Given the description of an element on the screen output the (x, y) to click on. 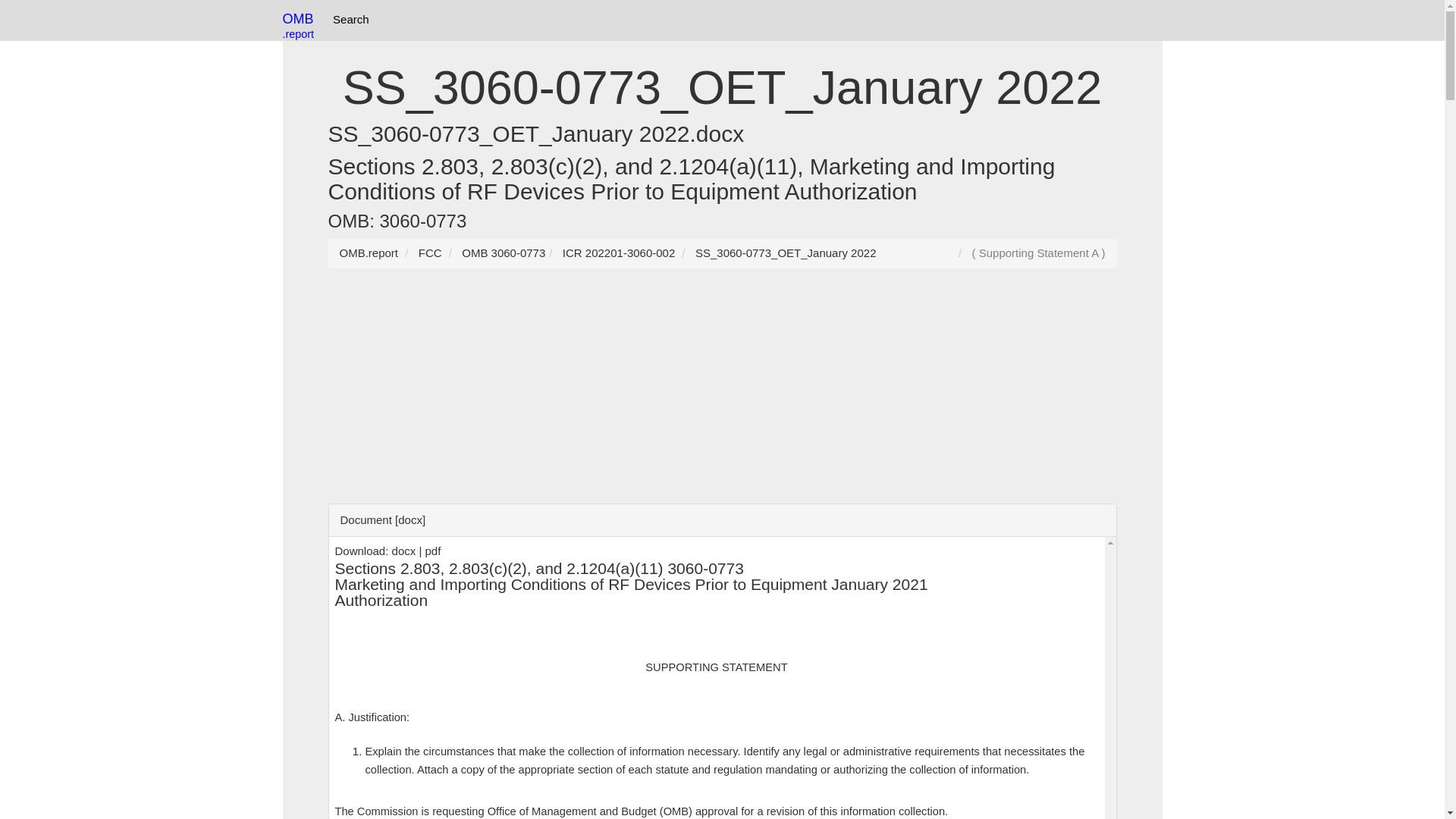
OMB.report (368, 252)
docx (403, 550)
OMB 3060-0773 (502, 252)
ICR 202201-3060-002 (618, 252)
pdf (433, 550)
Search (350, 20)
header (716, 584)
OMB Search (350, 20)
